Given the description of an element on the screen output the (x, y) to click on. 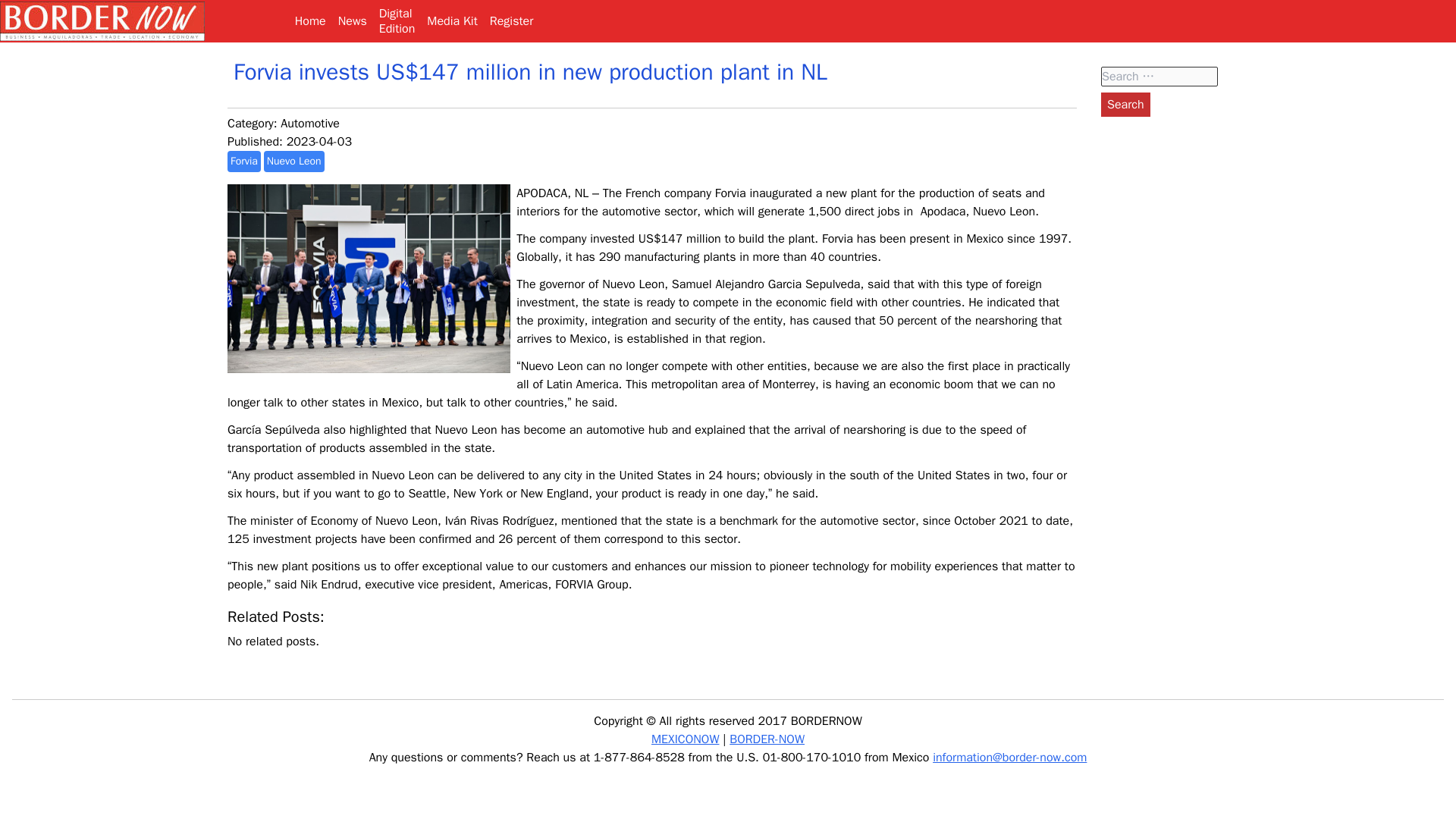
Search (1125, 104)
BORDER-NOW (767, 739)
Automotive (310, 123)
Register (511, 21)
Nuevo Leon Tag (293, 160)
MEXICONOW (684, 739)
Forvia Tag (243, 160)
Search (1125, 104)
Nuevo Leon (397, 21)
Search (293, 160)
Media Kit (1125, 104)
Forvia (451, 21)
Home (243, 160)
